Given the description of an element on the screen output the (x, y) to click on. 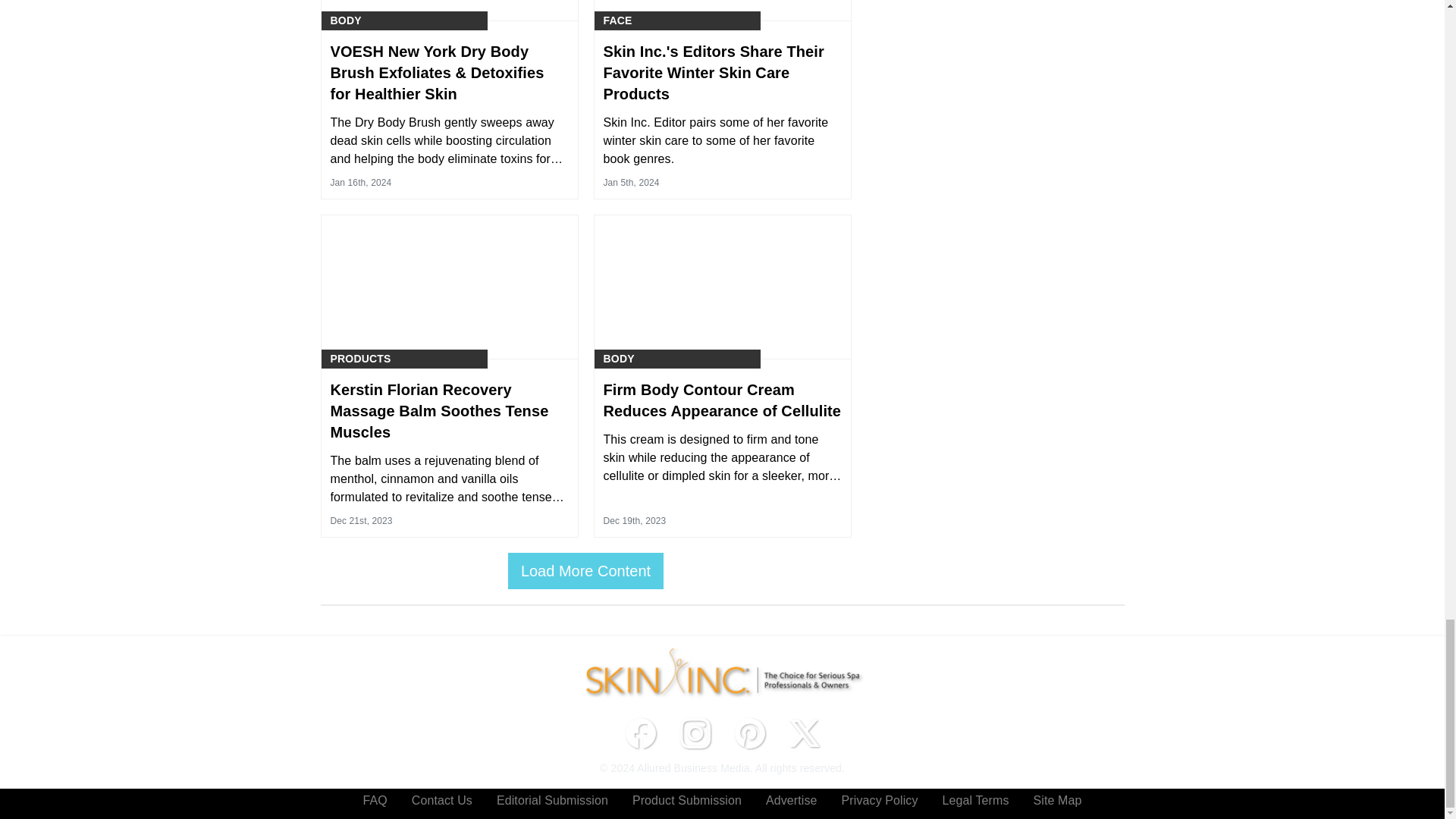
Facebook icon (639, 733)
Pinterest icon (748, 733)
Twitter X icon (803, 733)
Instagram icon (694, 733)
